Given the description of an element on the screen output the (x, y) to click on. 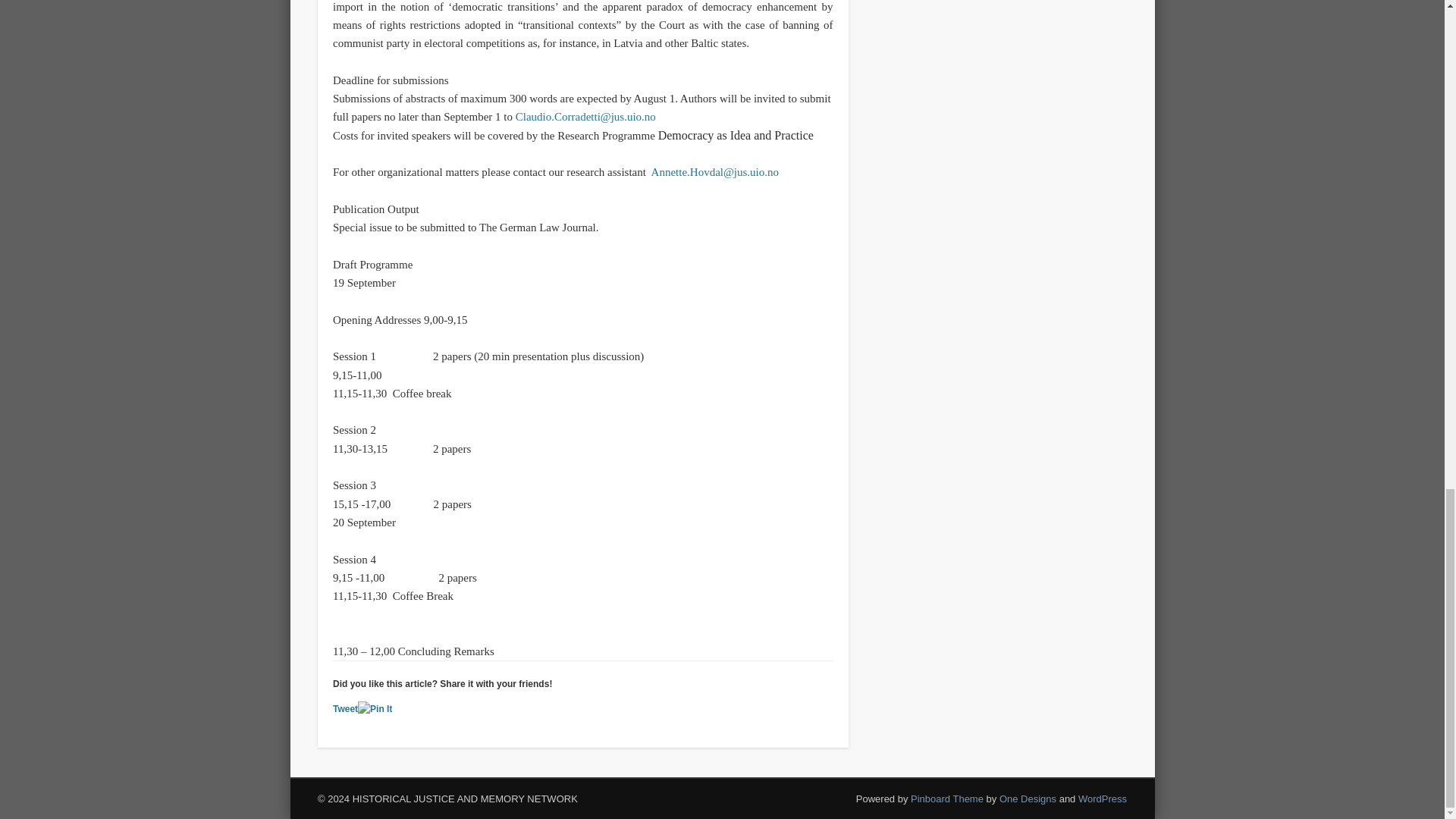
Pin It (374, 709)
WordPress (1102, 798)
One Designs (1027, 798)
Pinboard Theme (947, 798)
